Given the description of an element on the screen output the (x, y) to click on. 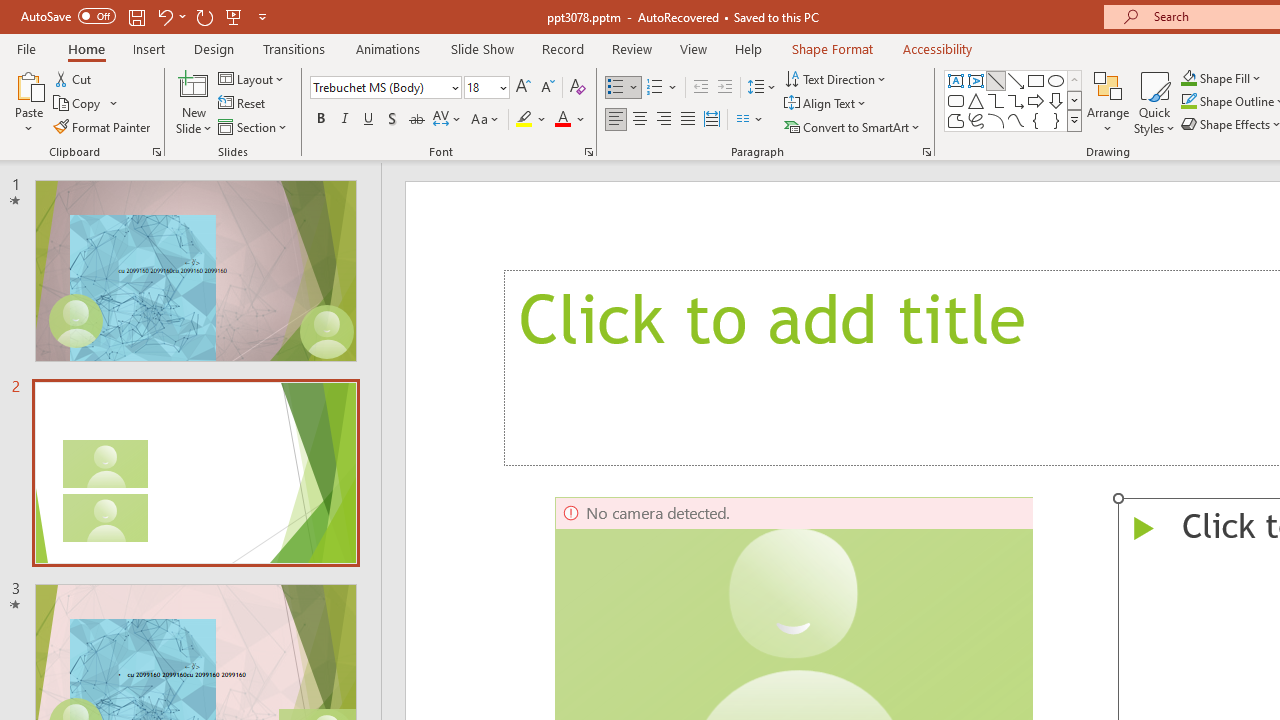
Arrow: Down (1055, 100)
Cut (73, 78)
Justify (687, 119)
Italic (344, 119)
Right Brace (1055, 120)
